Given the description of an element on the screen output the (x, y) to click on. 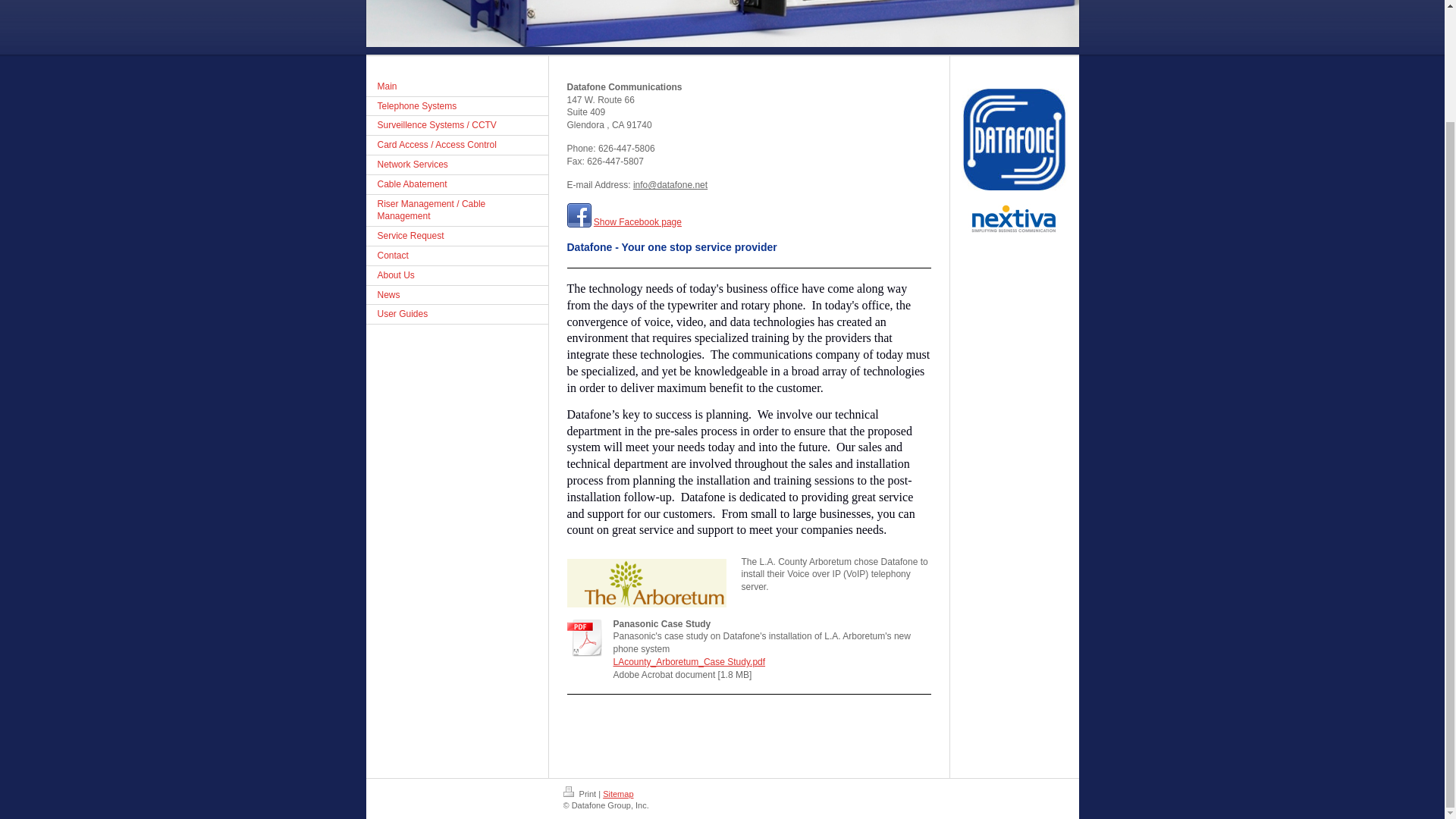
News (456, 295)
Network Services (456, 165)
Main (456, 86)
Print (580, 793)
Sitemap (617, 793)
Contact (456, 256)
Service Request (456, 236)
Cable Abatement (456, 184)
Show Facebook page (637, 222)
Telephone Systems (456, 107)
About Us (456, 275)
User Guides (456, 314)
